Given the description of an element on the screen output the (x, y) to click on. 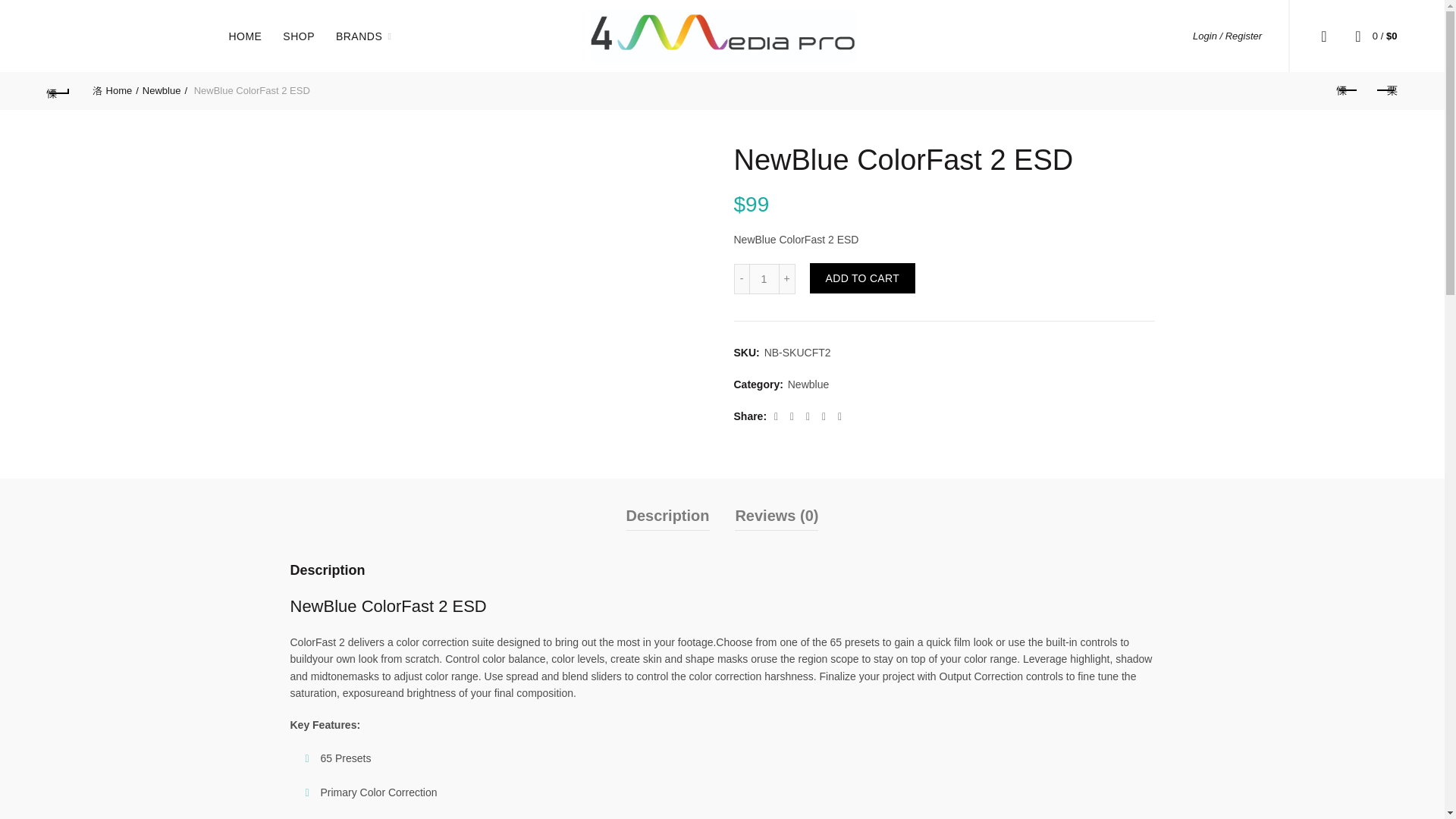
Qty (763, 278)
1 (763, 278)
